Given the description of an element on the screen output the (x, y) to click on. 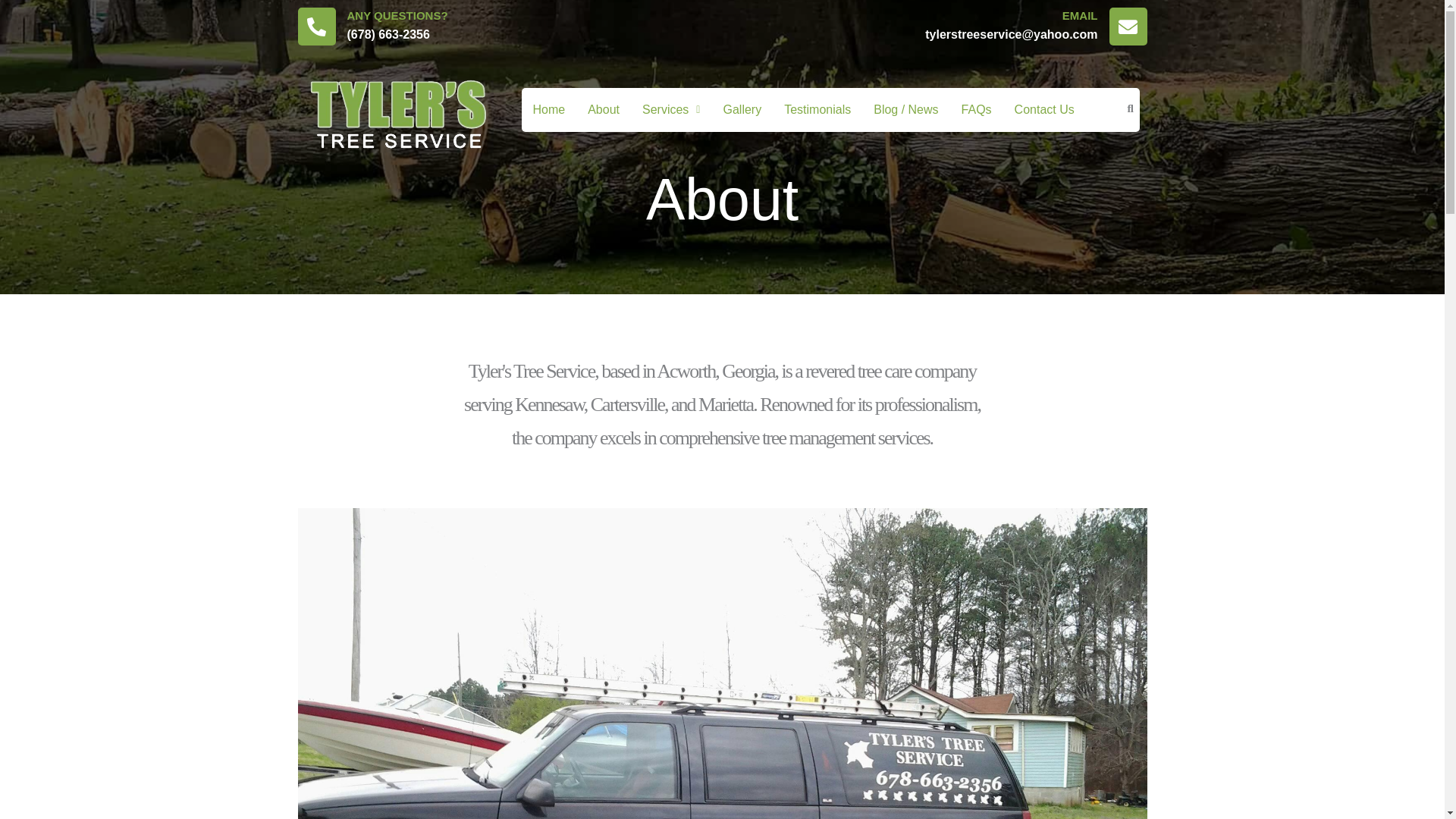
Contact Us (1044, 109)
FAQs (976, 109)
Home (548, 109)
Services (670, 109)
Search (1115, 108)
Gallery (742, 109)
Testimonials (817, 109)
About (603, 109)
EMAIL (1079, 15)
ANY QUESTIONS? (397, 15)
